Given the description of an element on the screen output the (x, y) to click on. 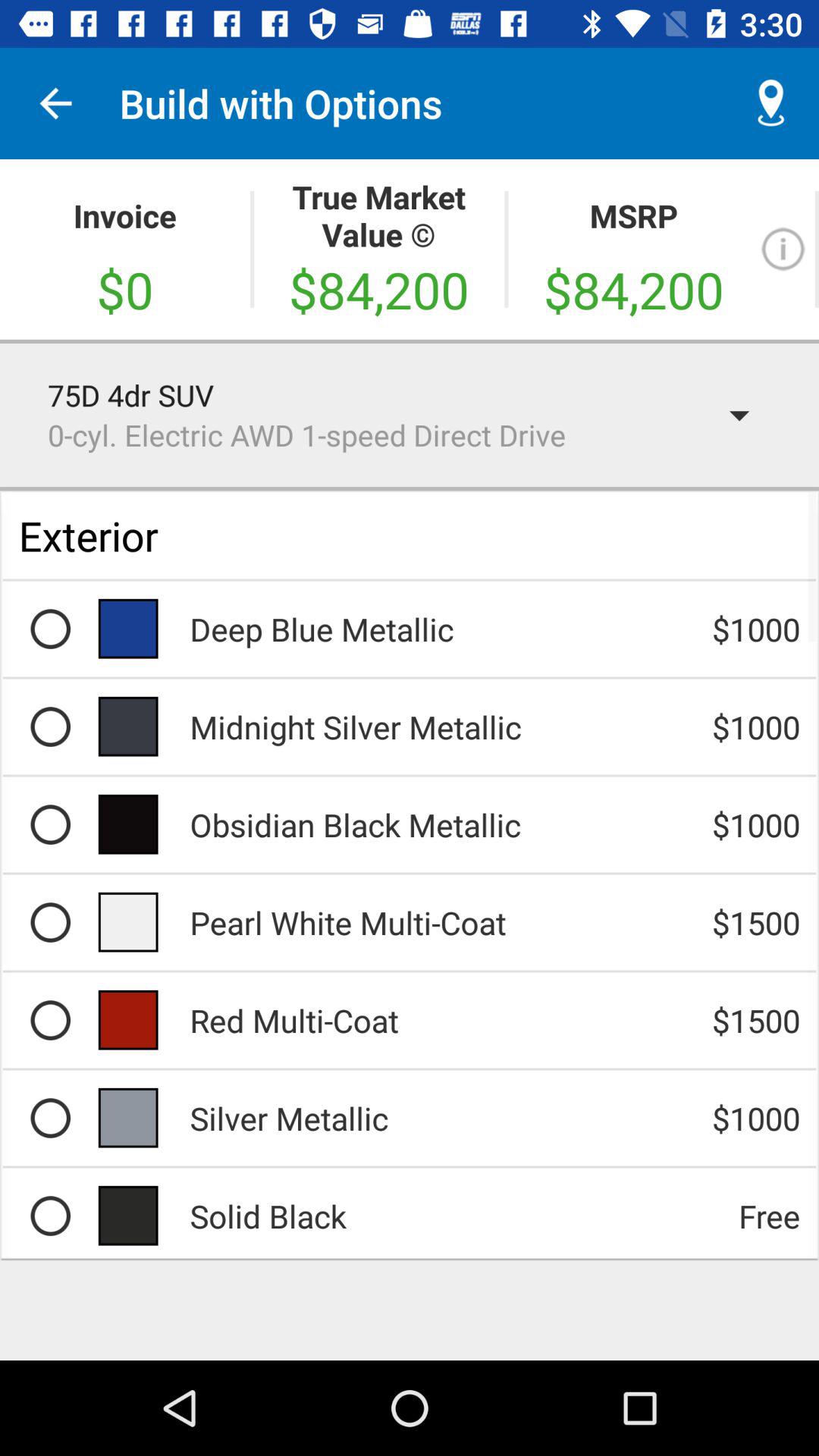
select midnight silver (50, 726)
